Given the description of an element on the screen output the (x, y) to click on. 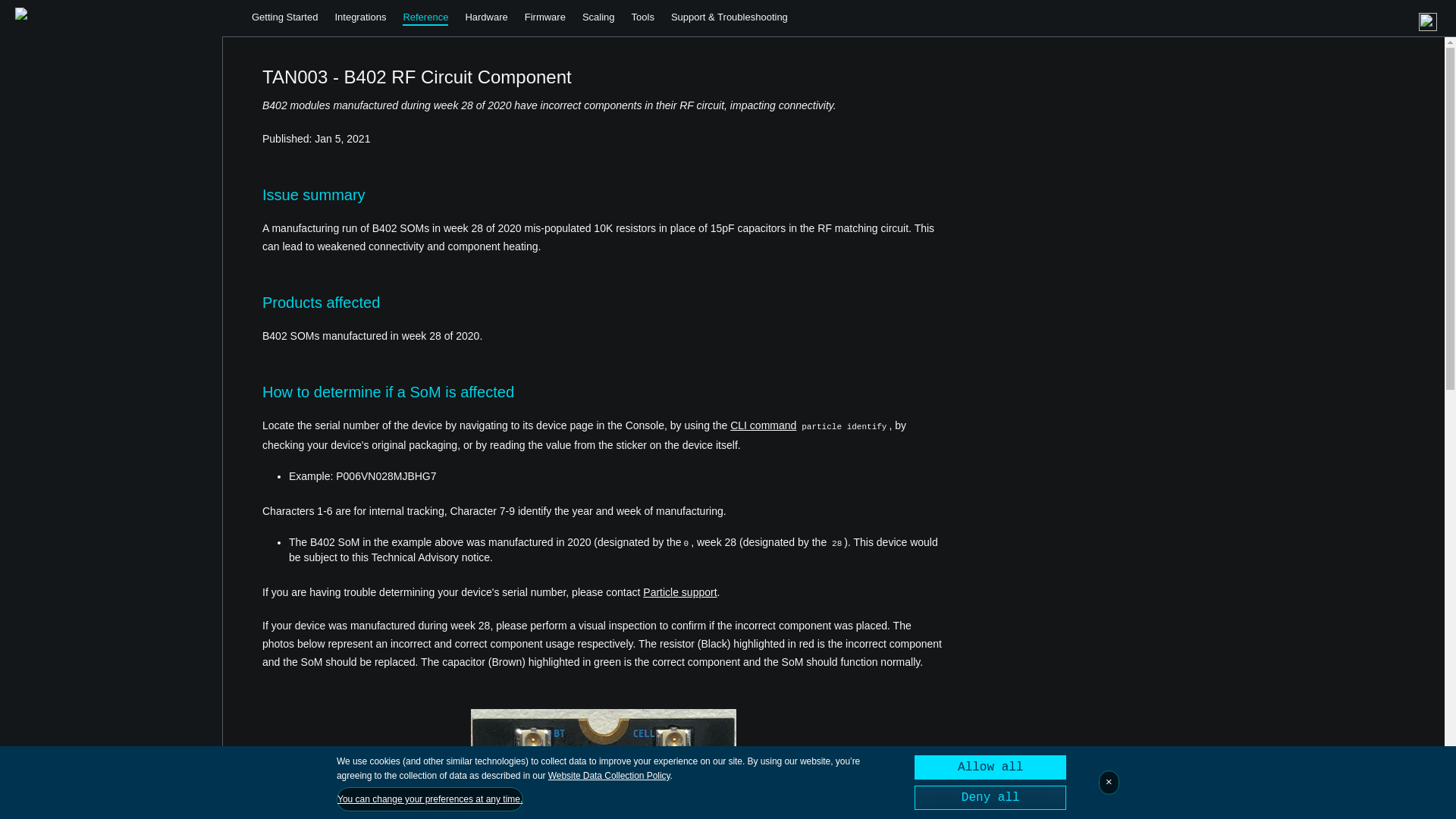
Getting Started (284, 17)
Website Data Collection Policy (608, 775)
Tools (642, 17)
Firmware (545, 17)
Integrations (359, 17)
Reference (425, 17)
Hardware (485, 17)
CLI command (763, 425)
Particle support (679, 592)
Scaling (598, 17)
